Given the description of an element on the screen output the (x, y) to click on. 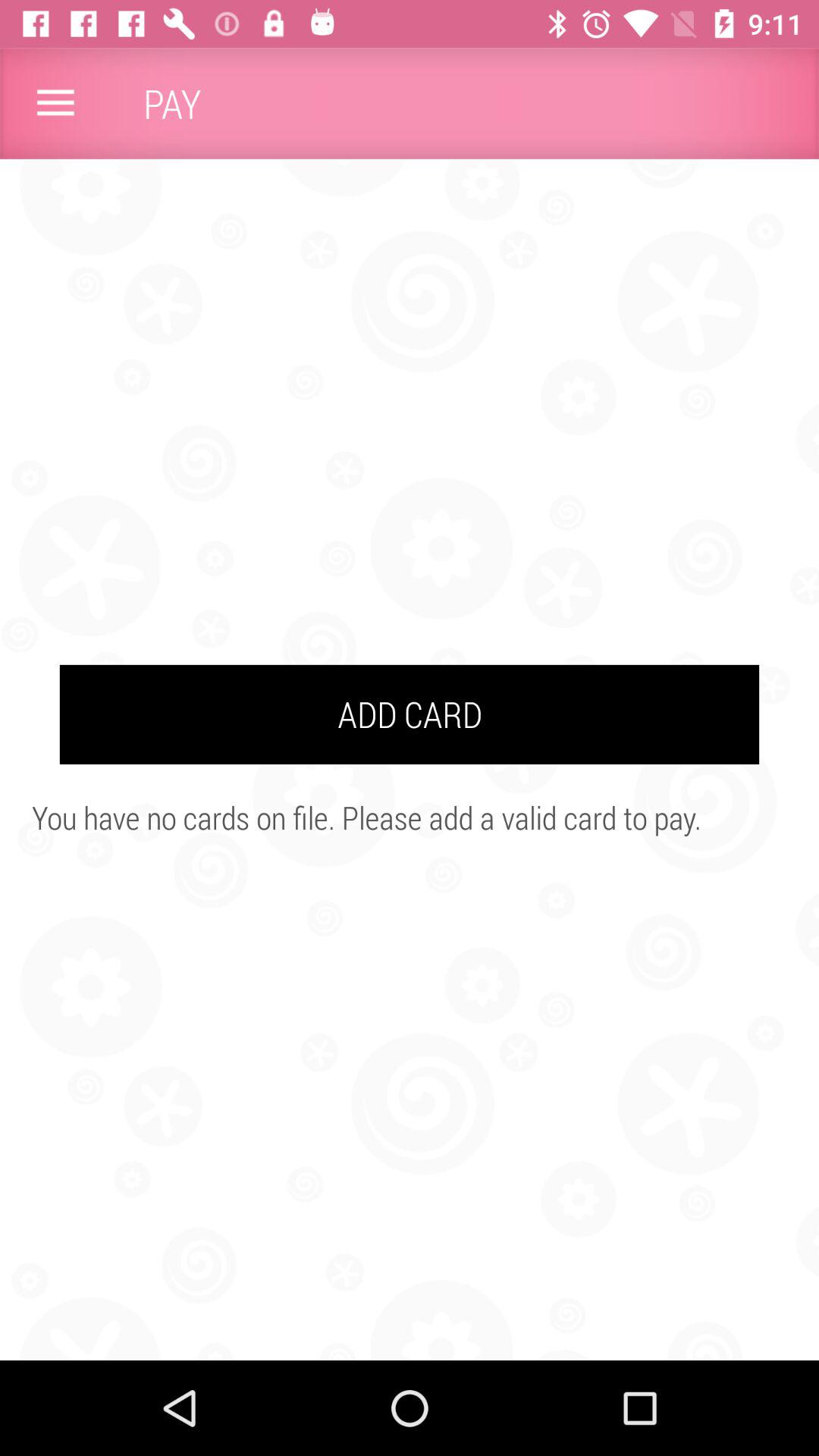
open the icon above add card item (55, 103)
